Given the description of an element on the screen output the (x, y) to click on. 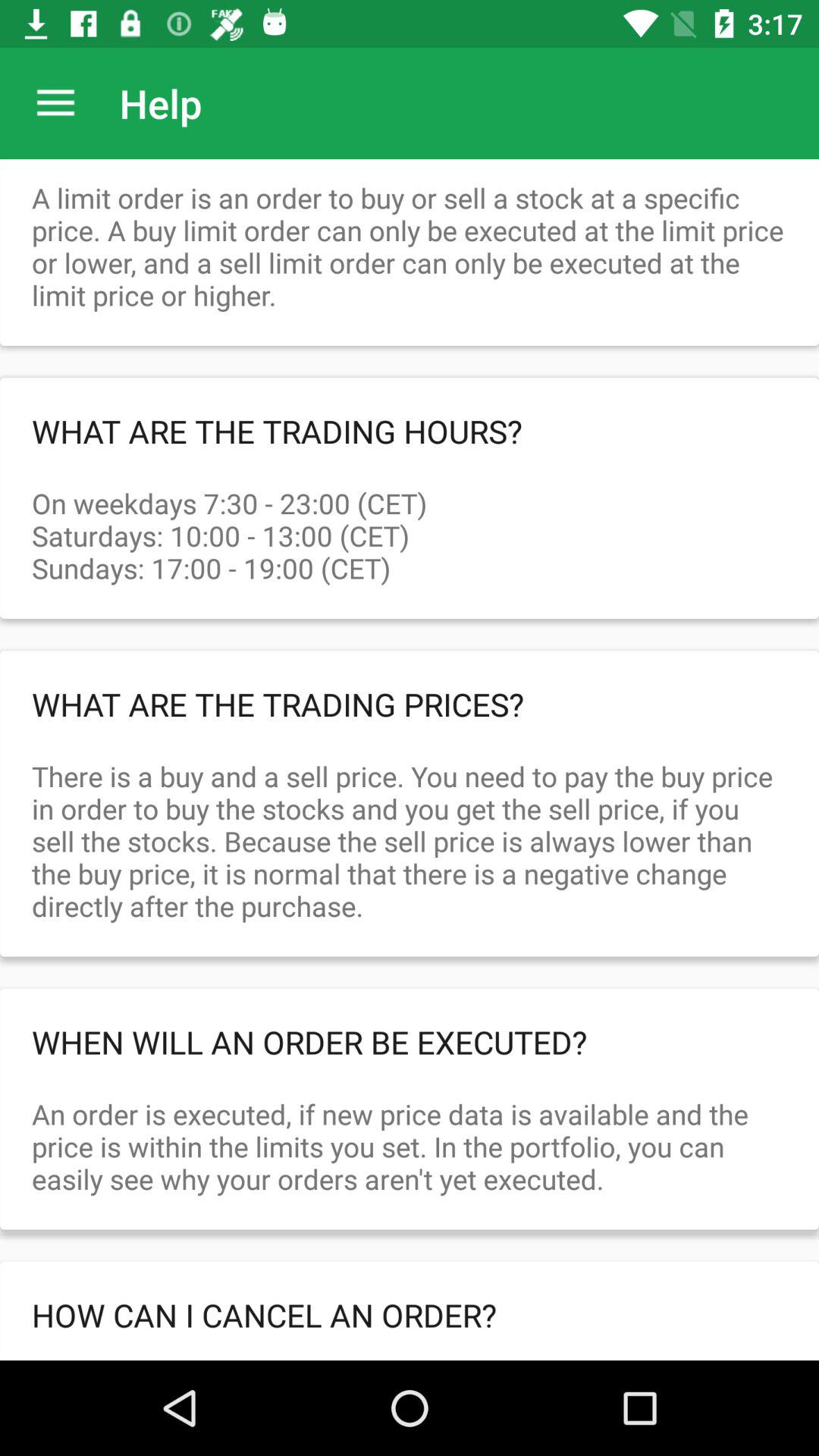
open icon below the an order is item (409, 1314)
